Given the description of an element on the screen output the (x, y) to click on. 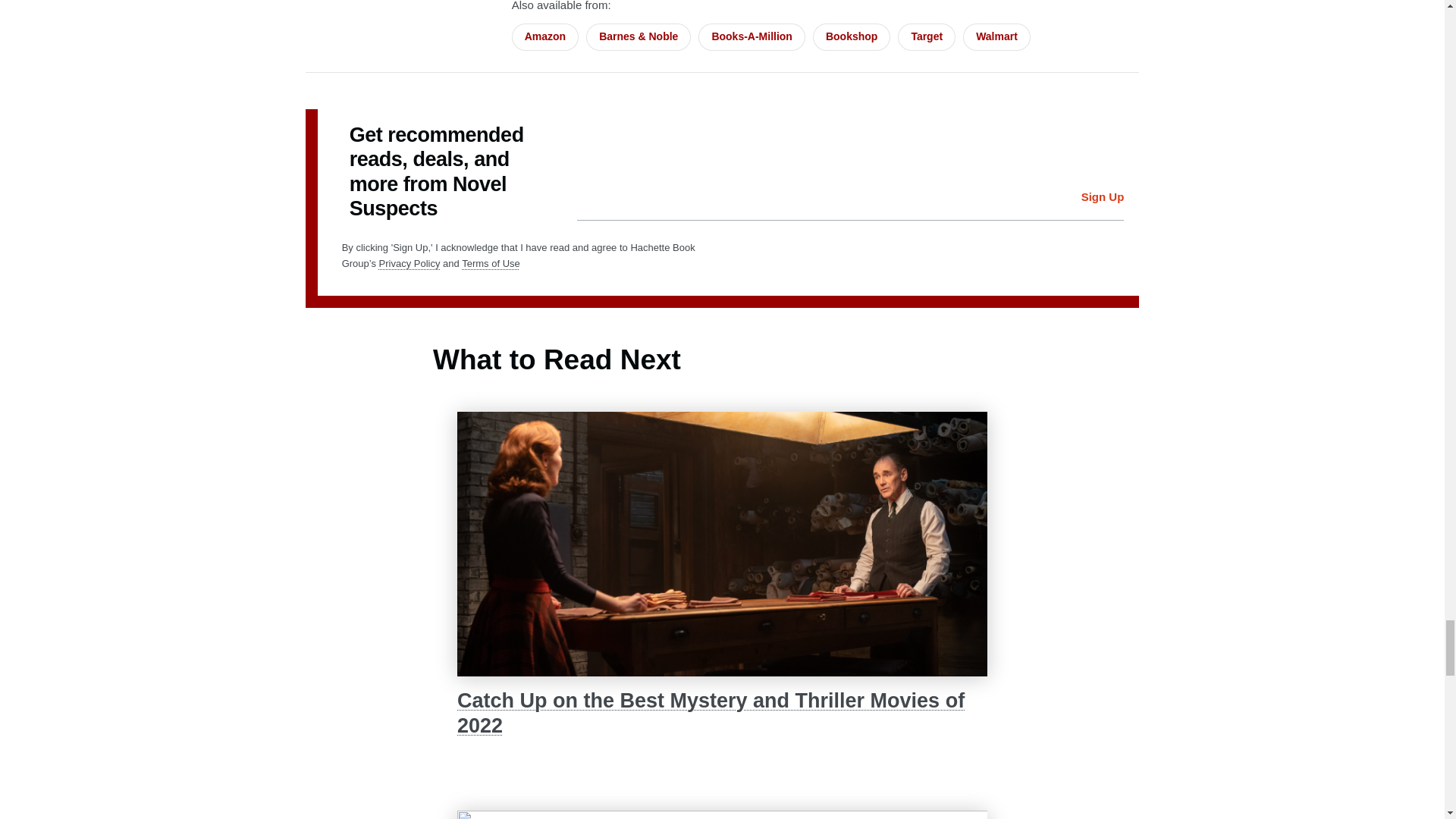
Terms of Use (490, 263)
Books-A-Million (751, 36)
Amazon (545, 36)
Target (926, 36)
Catch Up on the Best Mystery and Thriller Movies of 2022 (722, 712)
Walmart (996, 36)
Sign Up (1102, 197)
Privacy Policy (409, 263)
Bookshop (850, 36)
